Given the description of an element on the screen output the (x, y) to click on. 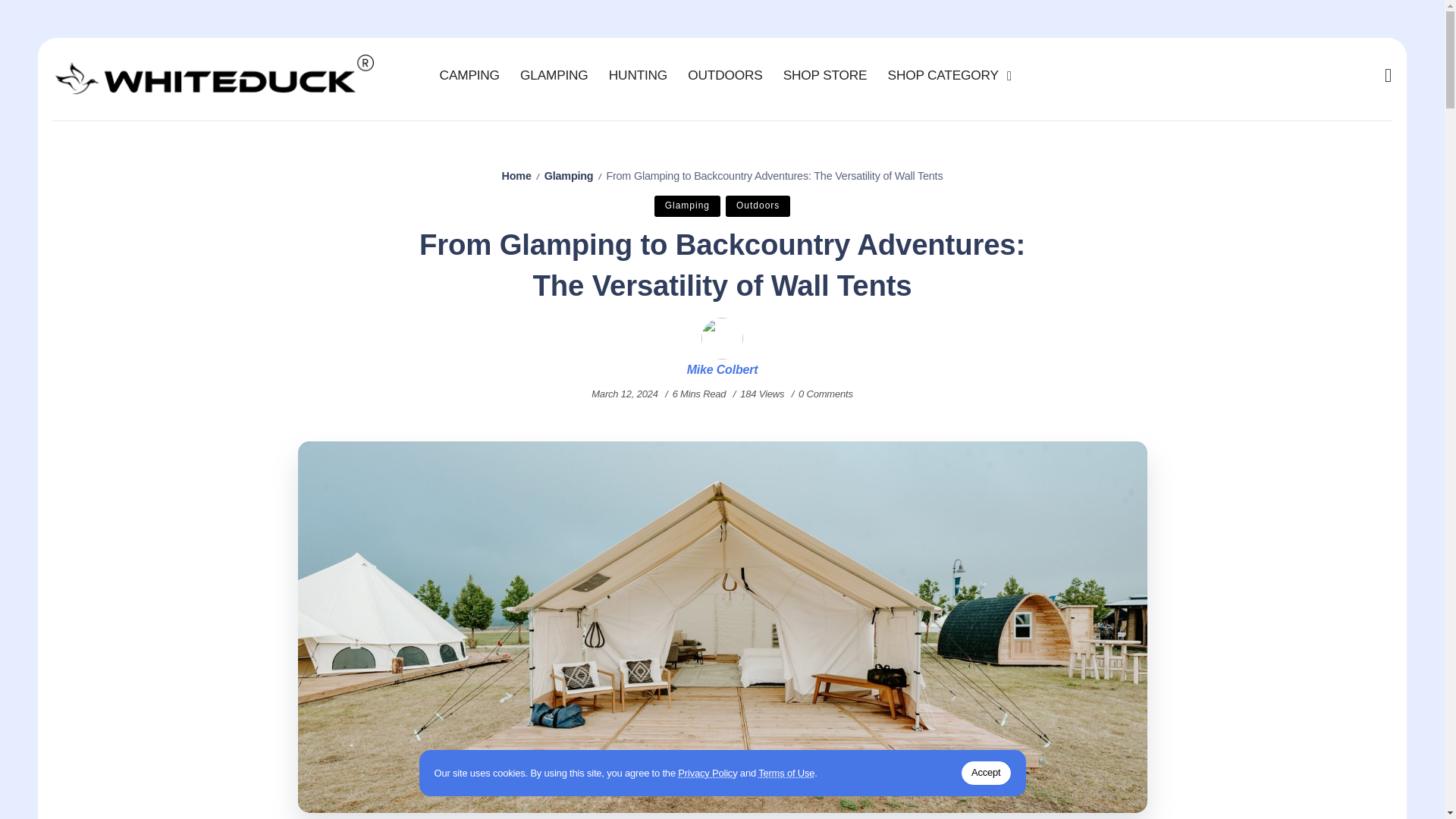
SHOP CATEGORY (945, 75)
Outdoors (757, 206)
Mike Colbert (722, 370)
Outdoors (757, 206)
OUTDOORS (724, 75)
Glamping (686, 206)
Home (516, 175)
GLAMPING (553, 75)
Glamping (569, 175)
CAMPING (468, 75)
Glamping (686, 206)
SHOP STORE (824, 75)
HUNTING (638, 75)
